Given the description of an element on the screen output the (x, y) to click on. 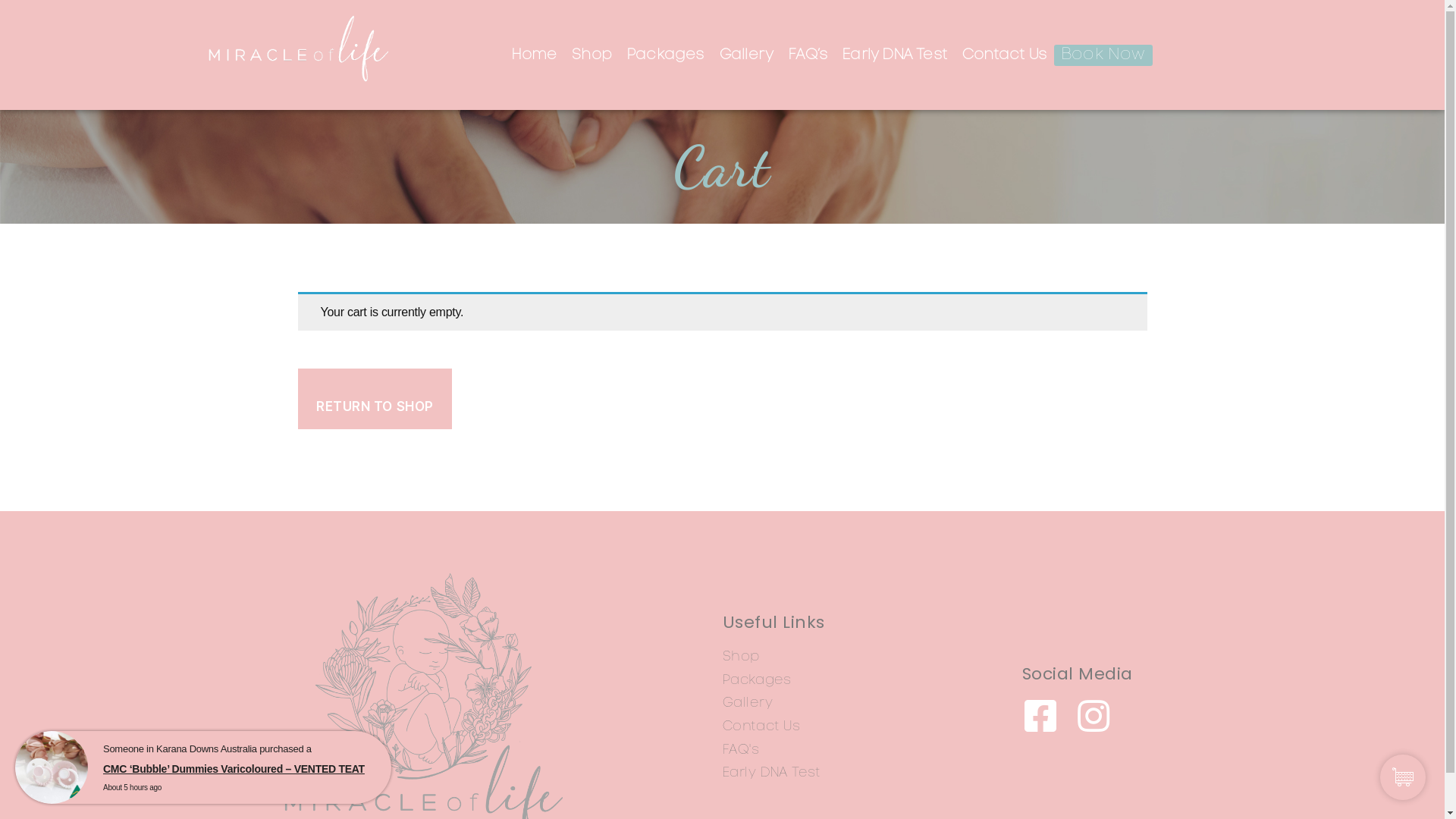
Packages Element type: text (871, 681)
Early DNA Test Element type: text (894, 54)
FAQ'S Element type: text (871, 750)
Packages Element type: text (665, 54)
Gallery Element type: text (746, 54)
Shop Element type: text (591, 54)
Home Element type: text (534, 54)
Contact Us Element type: text (871, 727)
Book Now Element type: text (1103, 54)
Contact Us Element type: text (1004, 54)
Early DNA Test Element type: text (871, 773)
Shop Element type: text (871, 657)
Gallery Element type: text (871, 703)
RETURN TO SHOP Element type: text (374, 398)
